Given the description of an element on the screen output the (x, y) to click on. 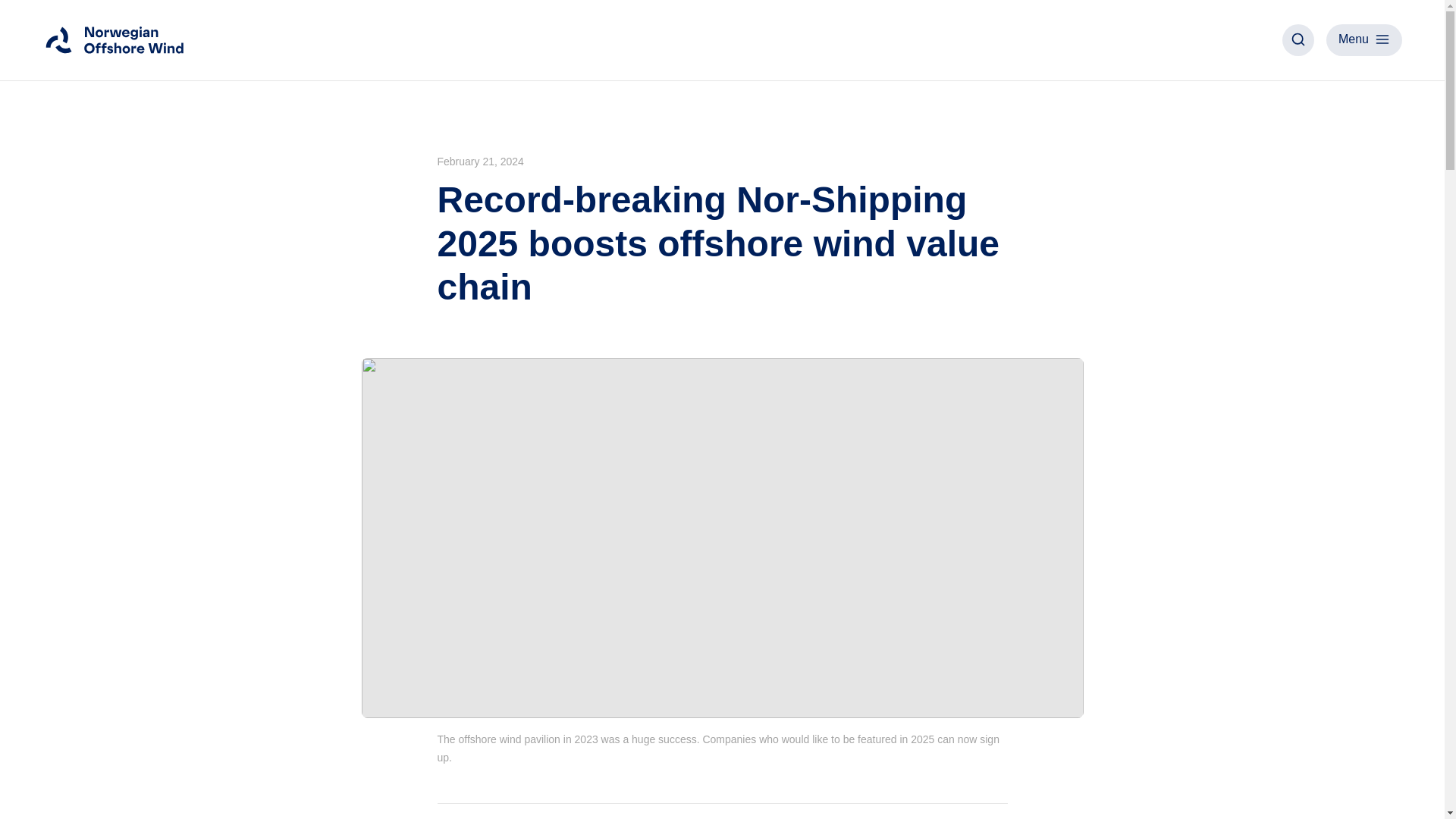
Search (1298, 40)
Menu (1364, 40)
